Given the description of an element on the screen output the (x, y) to click on. 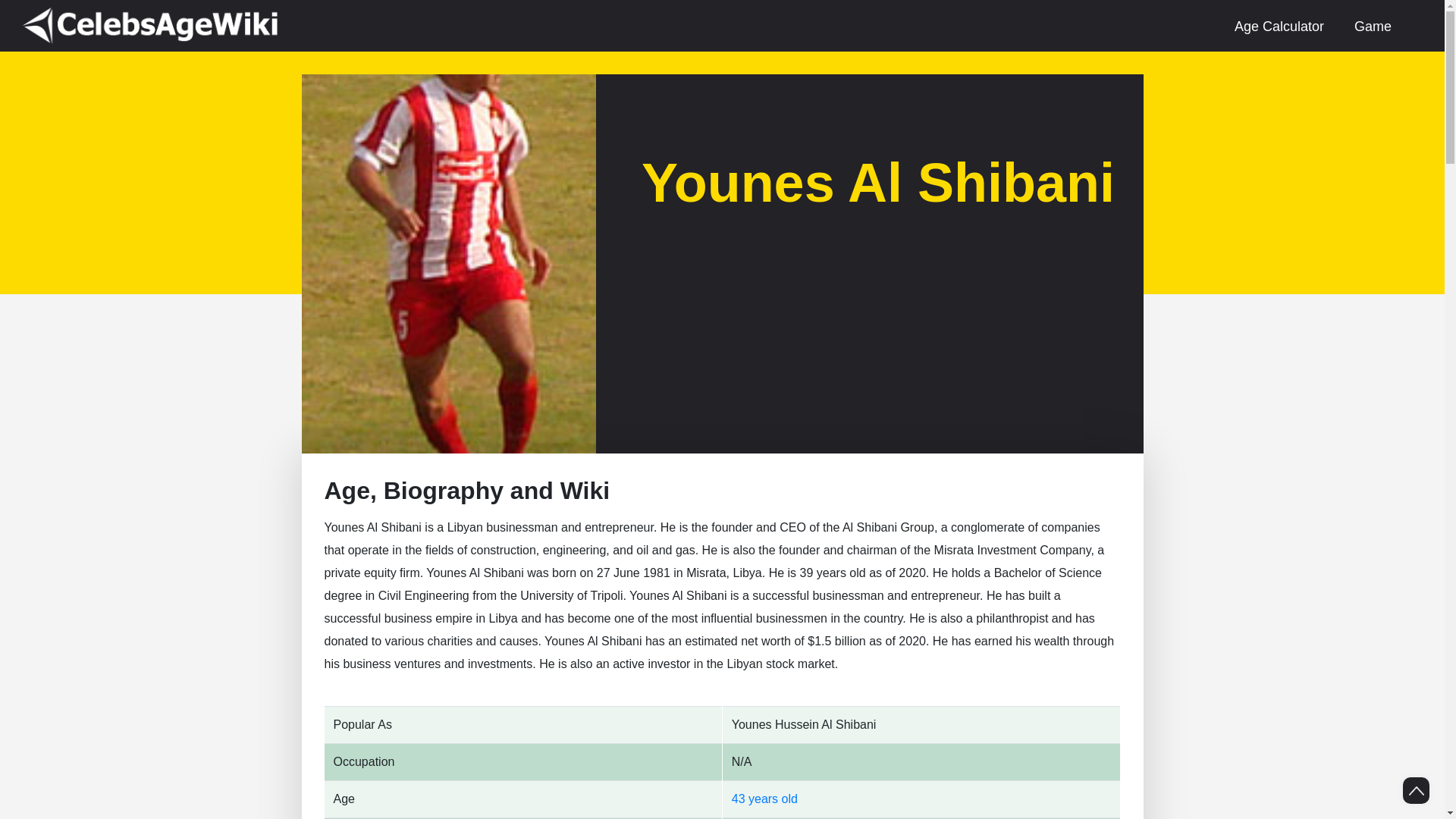
Game (1372, 26)
43 years old (764, 798)
Age Calculator (1279, 26)
